Given the description of an element on the screen output the (x, y) to click on. 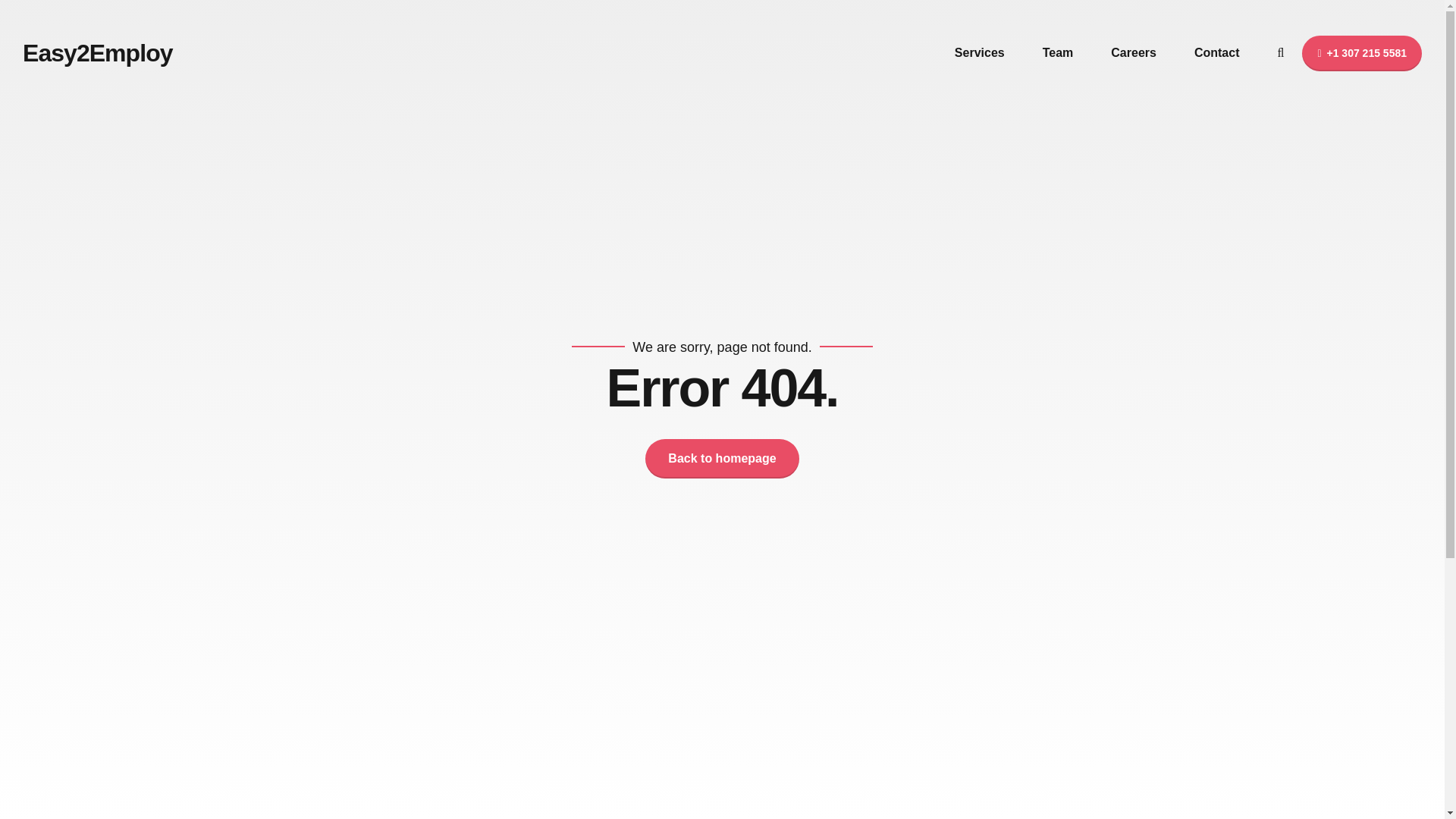
Easy2Employ (98, 52)
Back to homepage (721, 458)
